Given the description of an element on the screen output the (x, y) to click on. 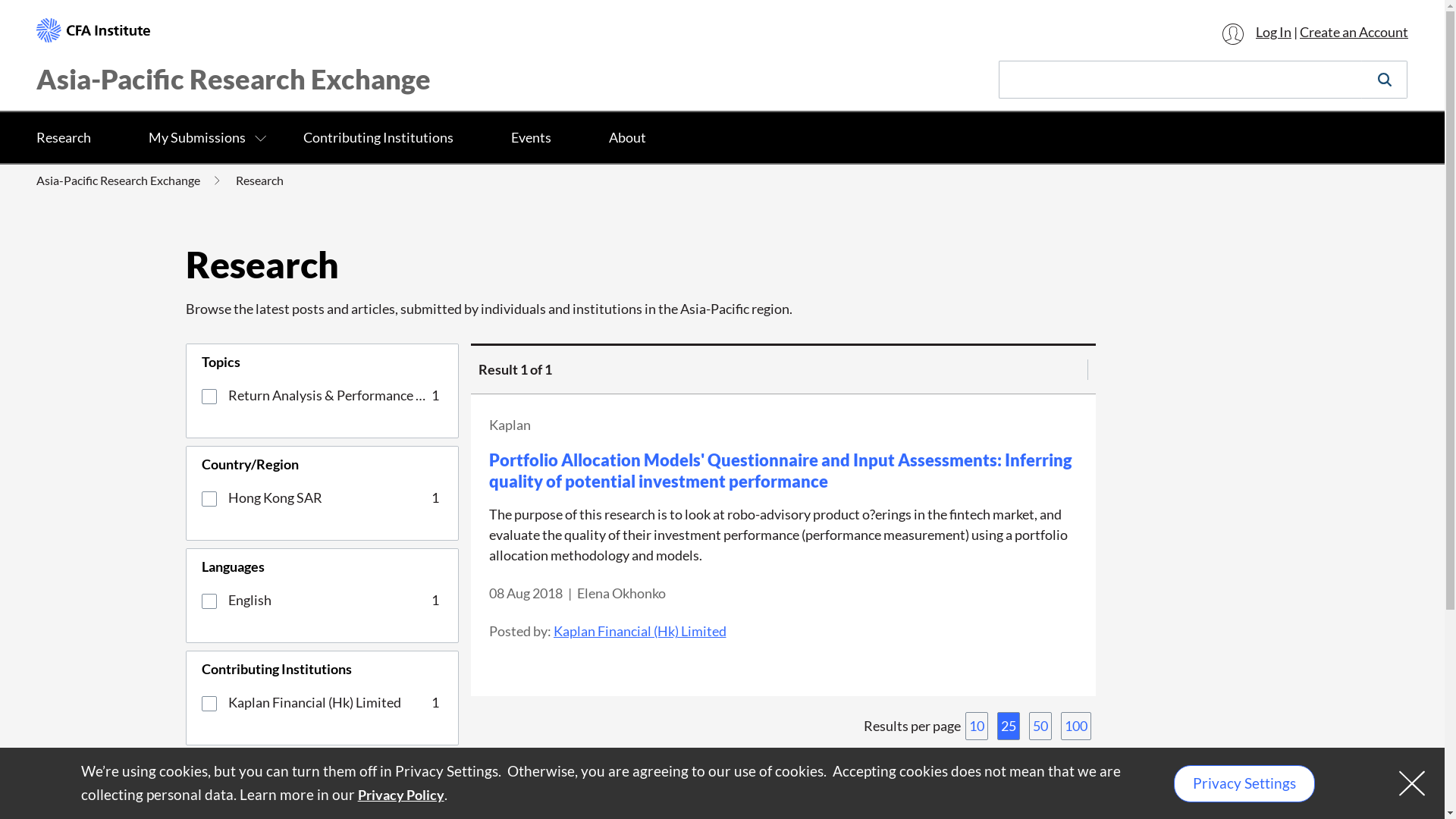
25 Element type: text (1008, 725)
Events Element type: text (530, 137)
Kaplan Financial (Hk) Limited Element type: text (639, 631)
Contributing Institutions Element type: text (378, 137)
100 Element type: text (1075, 725)
My Submissions Element type: text (196, 137)
Privacy Settings Element type: text (1243, 783)
Log In Element type: text (1256, 31)
50 Element type: text (1040, 725)
Insert a query. Press enter to send Element type: hover (1180, 79)
Asia-Pacific Research Exchange Element type: text (118, 179)
Asia-Pacific Research Exchange Element type: text (233, 78)
About Element type: text (627, 137)
10 Element type: text (976, 725)
Research Element type: text (71, 137)
Privacy Policy Element type: text (400, 794)
Create an Account Element type: text (1353, 31)
